Given the description of an element on the screen output the (x, y) to click on. 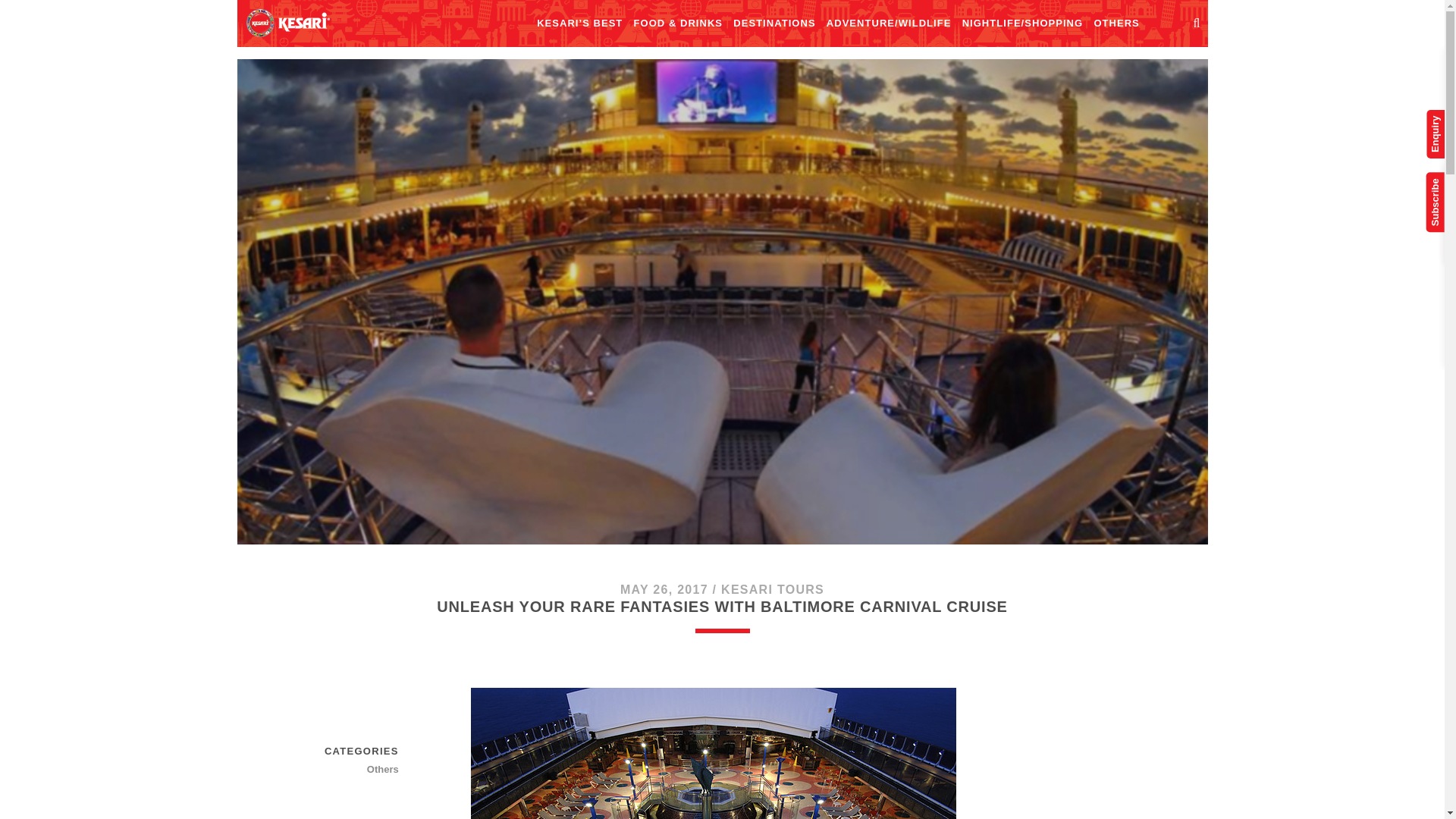
OTHERS (1115, 23)
DESTINATIONS (774, 23)
KESARI TOURS (772, 589)
Go (1416, 23)
Best Travel Blogs (287, 22)
Posts by Kesari Tours (772, 589)
View all posts in Others (344, 769)
